Given the description of an element on the screen output the (x, y) to click on. 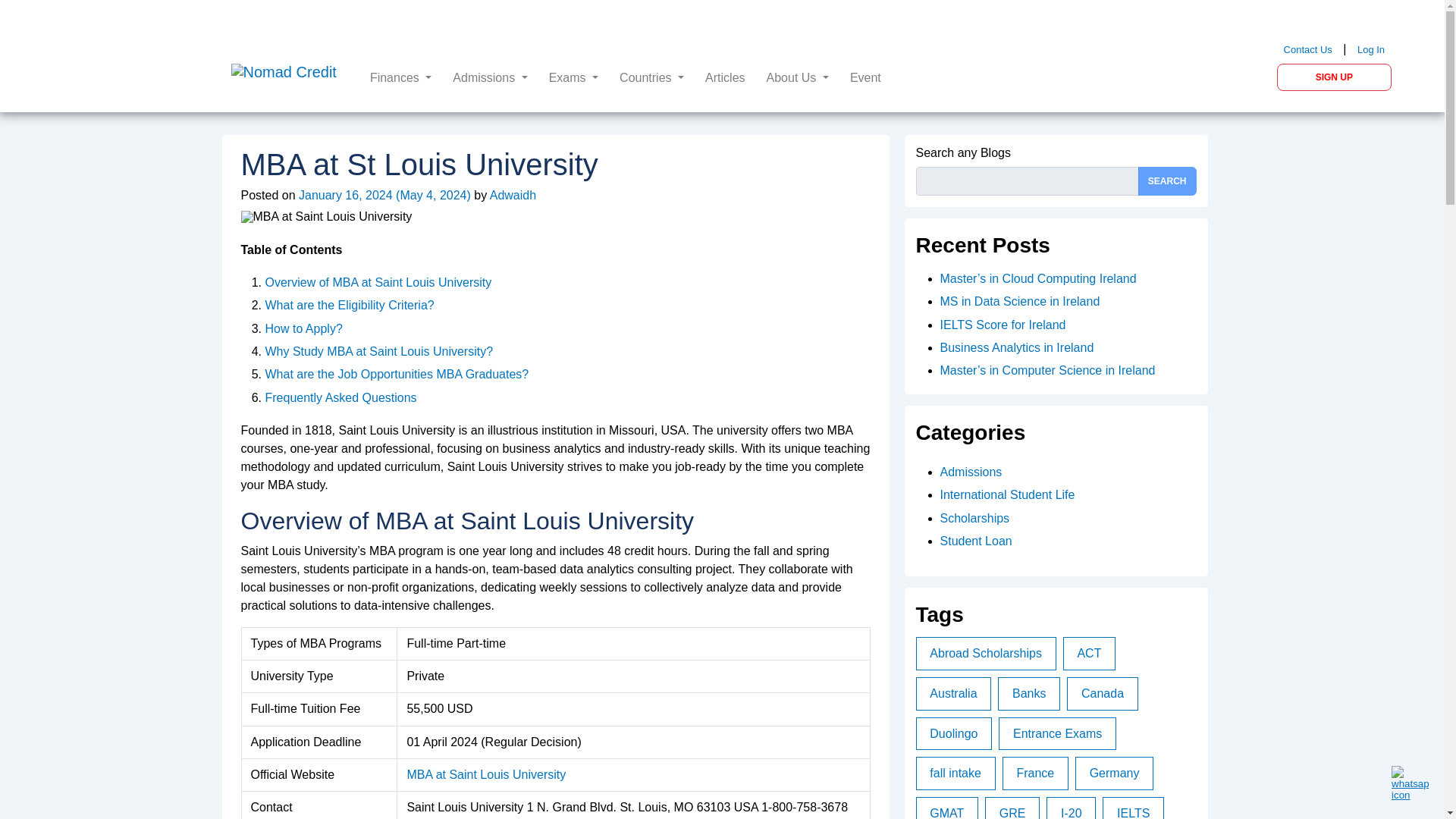
Admissions (493, 77)
Finances (405, 77)
Exams (577, 77)
